Given the description of an element on the screen output the (x, y) to click on. 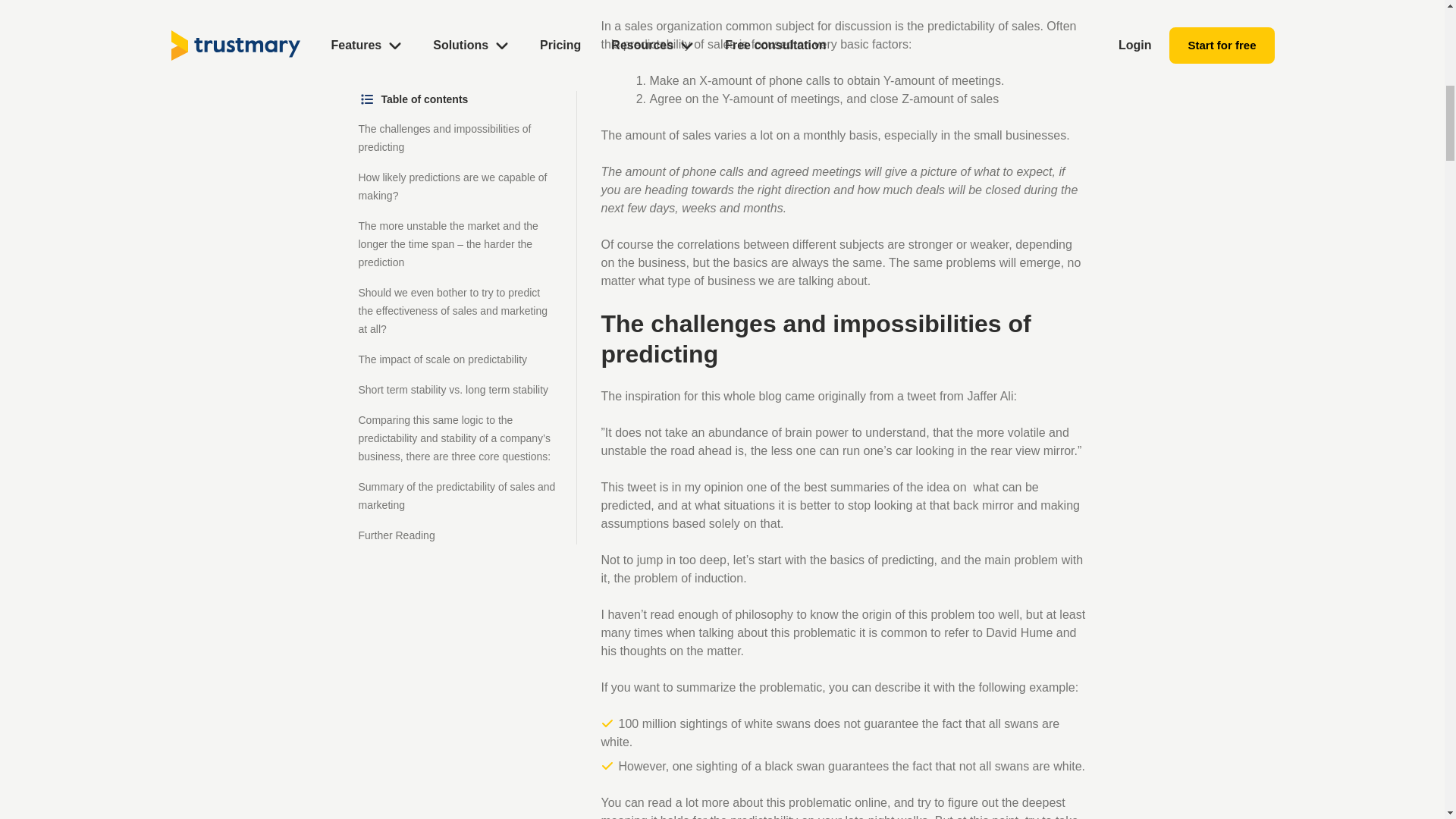
Further Reading (395, 169)
Summary of the predictability of sales and marketing (456, 130)
Short term stability vs. long term stability (453, 24)
